Given the description of an element on the screen output the (x, y) to click on. 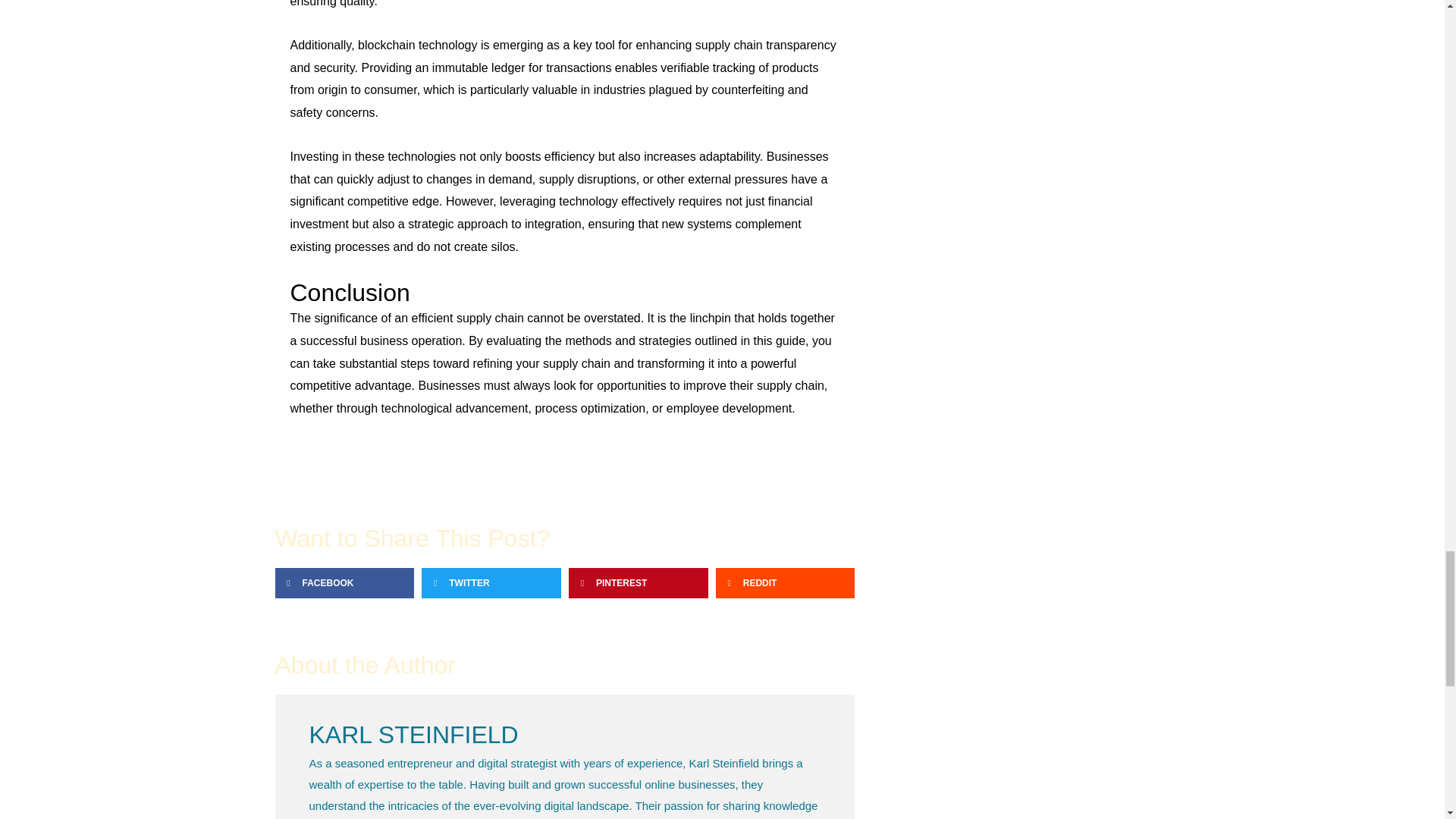
KARL STEINFIELD (564, 735)
